Given the description of an element on the screen output the (x, y) to click on. 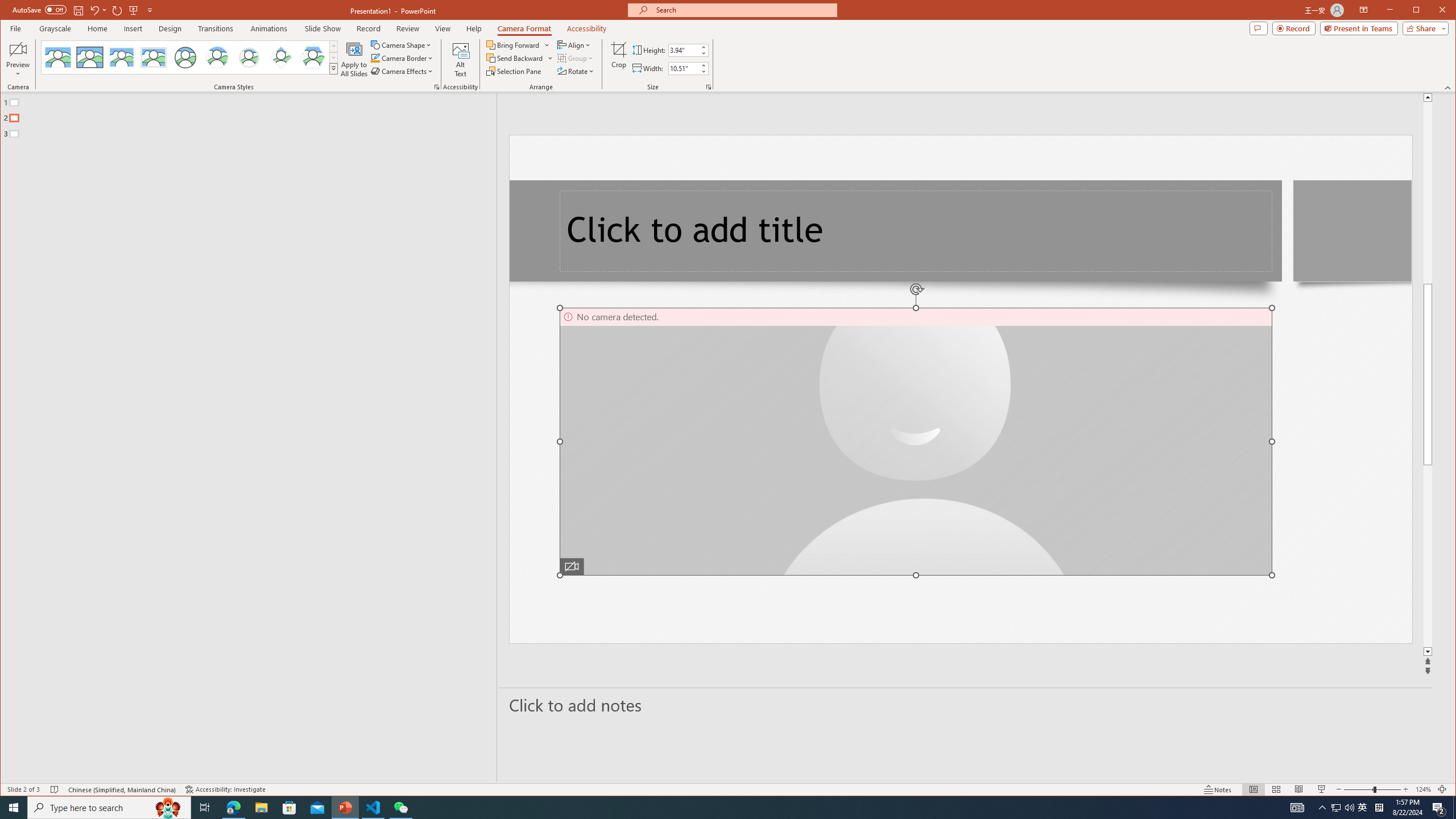
AutomationID: CameoStylesGallery (189, 57)
Outline (252, 115)
Apply to All Slides (354, 59)
Send Backward (515, 57)
Simple Frame Rectangle (90, 57)
Center Shadow Circle (216, 57)
Size and Position... (708, 86)
Align (575, 44)
